Given the description of an element on the screen output the (x, y) to click on. 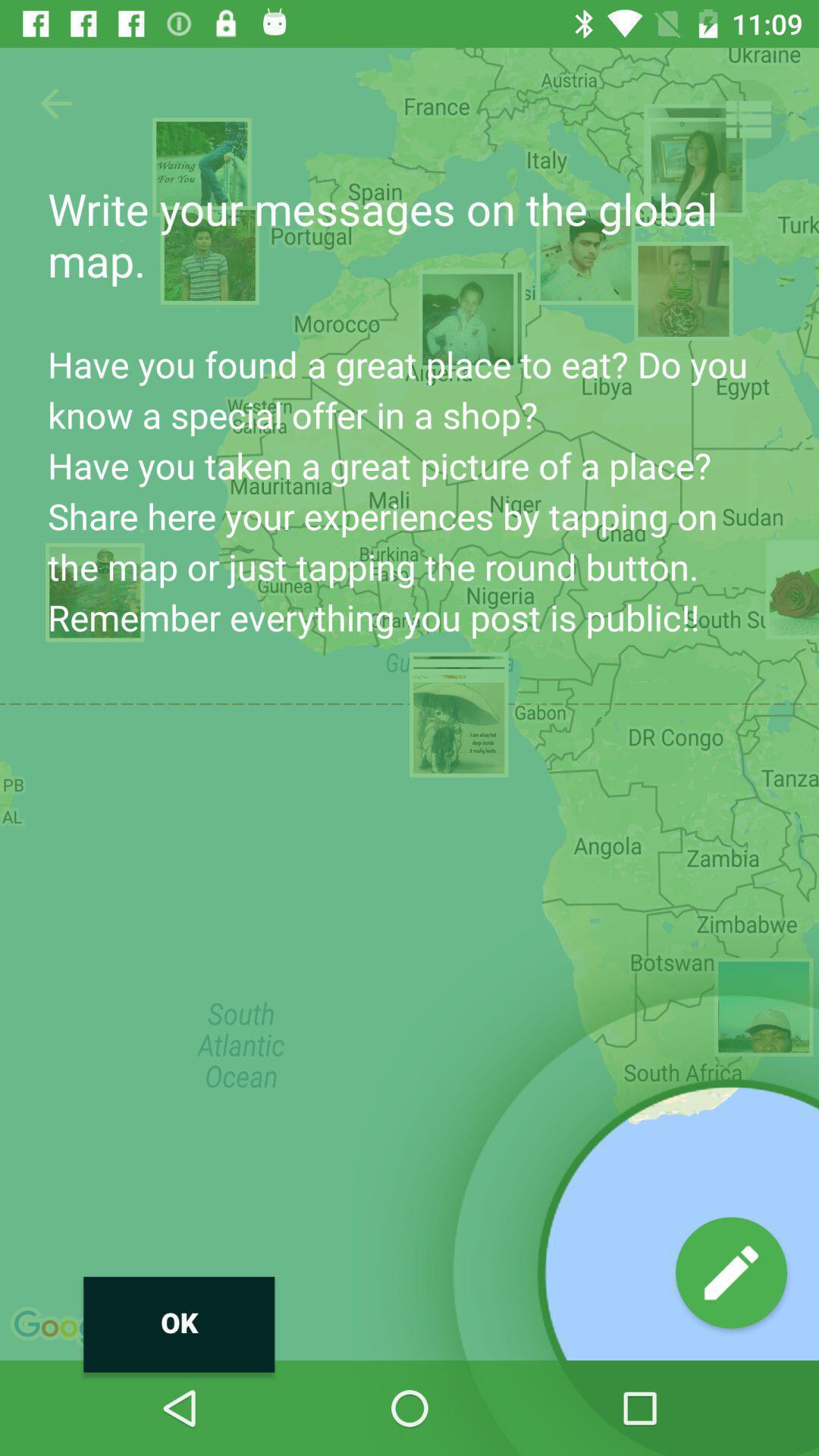
turn off button above the ok icon (55, 103)
